Given the description of an element on the screen output the (x, y) to click on. 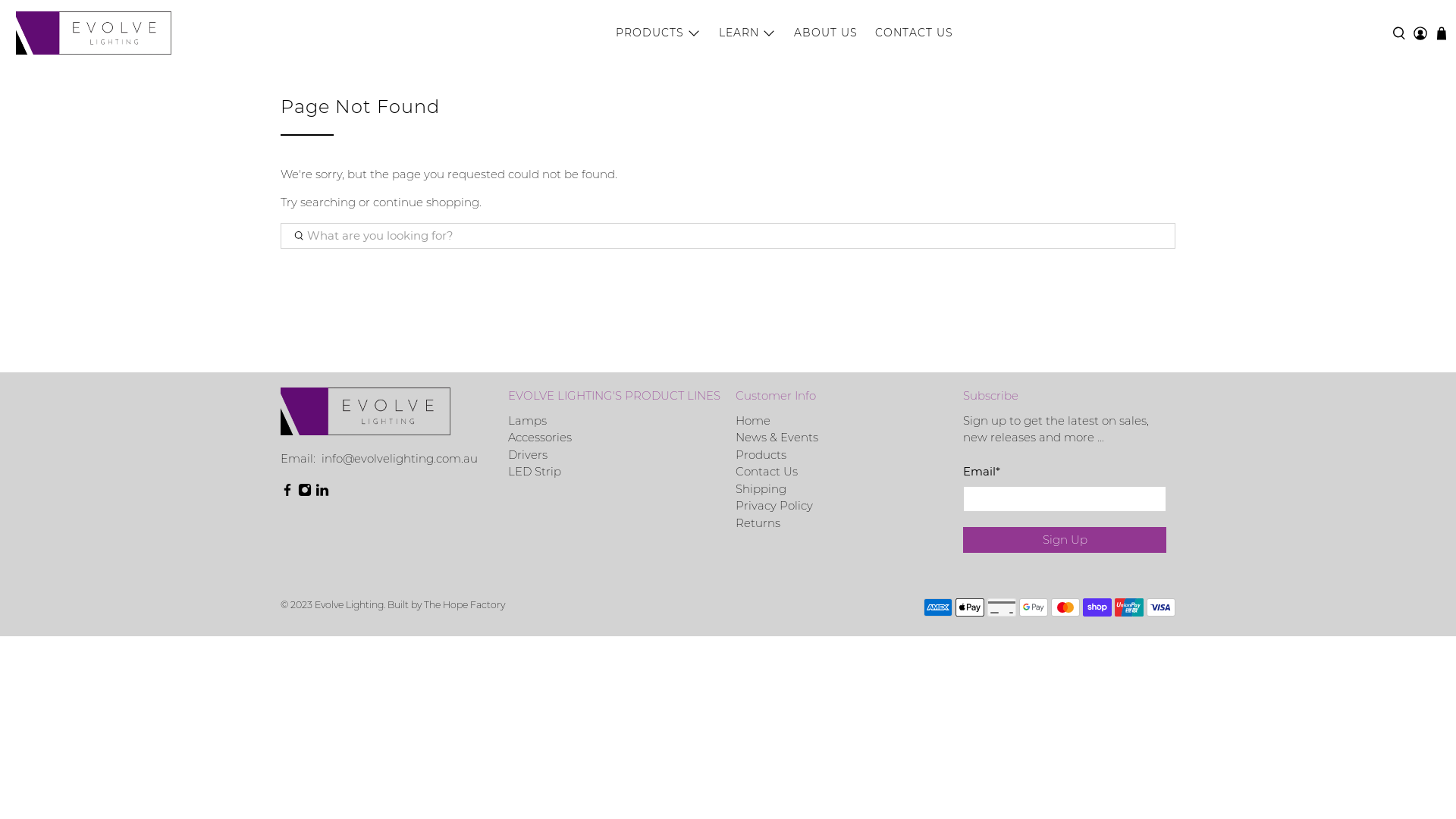
LED Strip Element type: text (534, 471)
Evolve Lighting on Facebook Element type: hover (287, 492)
continue shopping Element type: text (426, 201)
Evolve Lighting Element type: hover (93, 32)
Returns Element type: text (757, 522)
Evolve Lighting Element type: text (348, 604)
Accessories Element type: text (539, 436)
LEARN Element type: text (747, 32)
Privacy Policy Element type: text (773, 505)
Evolve Lighting on Instagram Element type: hover (304, 492)
Evolve Lighting Element type: hover (365, 418)
CONTACT US Element type: text (913, 32)
ABOUT US Element type: text (825, 32)
Evolve Lighting on LinkedIn Element type: hover (322, 492)
News & Events Element type: text (776, 436)
Sign Up Element type: text (1064, 539)
Home Element type: text (752, 420)
PRODUCTS Element type: text (657, 32)
Contact Us Element type: text (766, 471)
Products Element type: text (760, 454)
Drivers Element type: text (527, 454)
Lamps Element type: text (527, 420)
Shipping Element type: text (760, 488)
 info@evolvelighting.com.au Element type: text (397, 458)
